Given the description of an element on the screen output the (x, y) to click on. 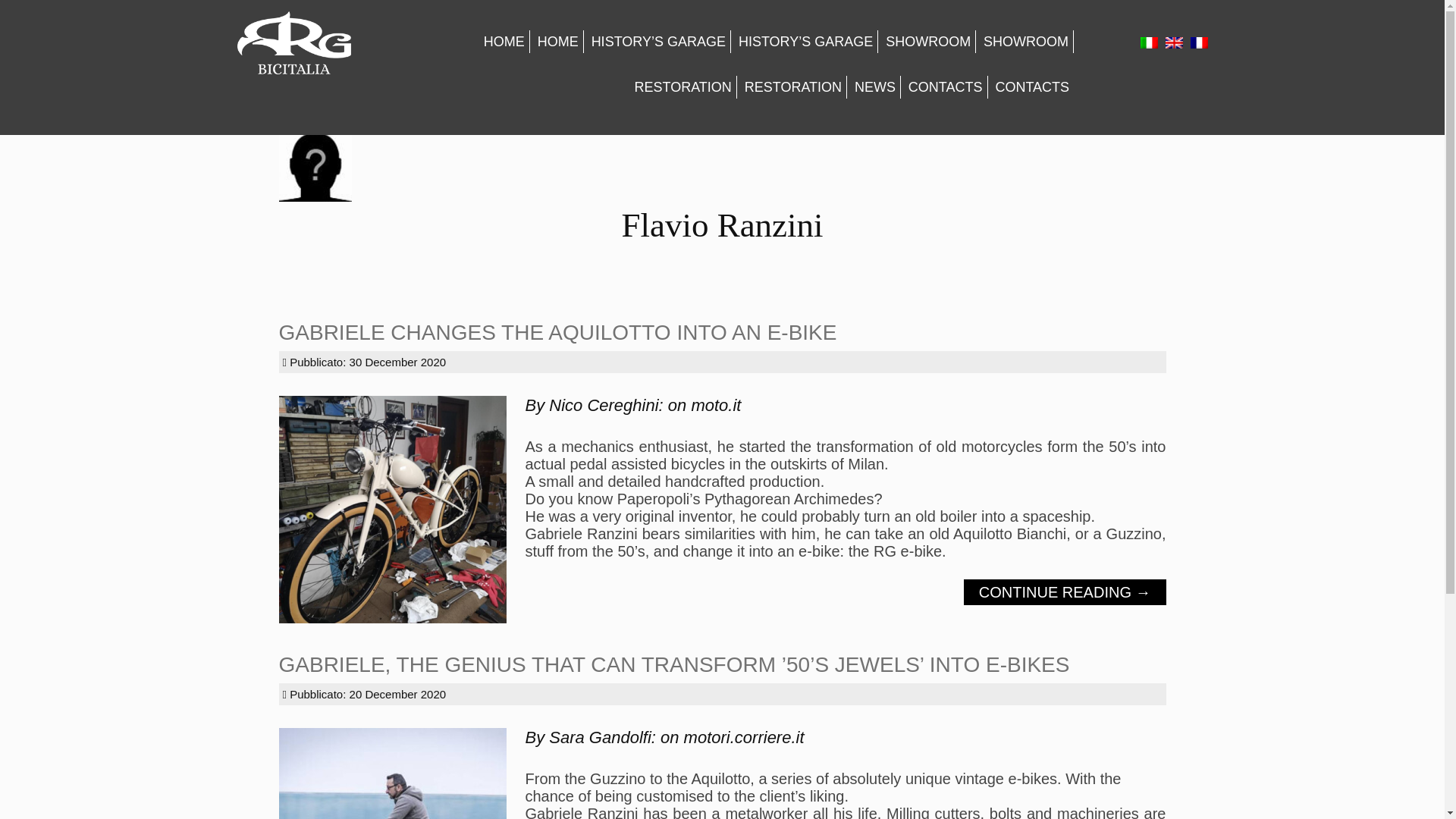
Home (504, 41)
CONTACTS (1032, 87)
HOME (557, 41)
News (875, 87)
SHOWROOM (1026, 41)
Home (557, 41)
Showroom (1026, 41)
SHOWROOM (927, 41)
Restoration (682, 87)
RESTORATION (682, 87)
Contacts (1032, 87)
GABRIELE CHANGES THE AQUILOTTO INTO AN E-BIKE (558, 332)
Restoration (793, 87)
HOME (504, 41)
NEWS (875, 87)
